Given the description of an element on the screen output the (x, y) to click on. 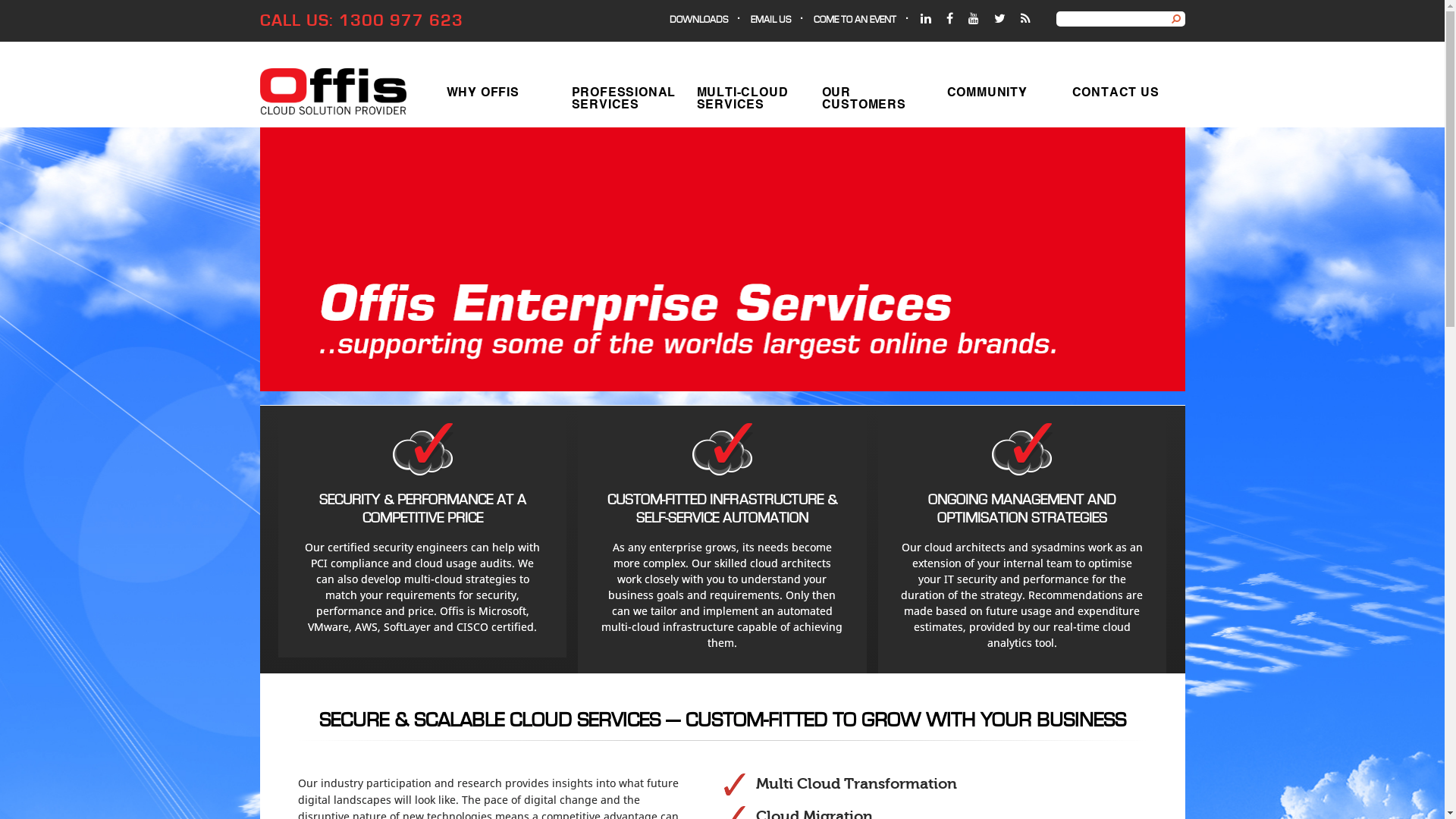
WHY OFFIS Element type: text (496, 96)
MULTI-CLOUD SERVICES Element type: text (747, 96)
EMAIL US Element type: text (770, 20)
COMMUNITY Element type: text (997, 96)
DOWNLOADS Element type: text (698, 20)
CONTACT US Element type: text (1121, 96)
CALL US: 1300 977 623 Element type: text (360, 20)
COME TO AN EVENT Element type: text (854, 20)
PROFESSIONAL SERVICES Element type: text (621, 96)
OUR CUSTOMERS Element type: text (871, 96)
